Given the description of an element on the screen output the (x, y) to click on. 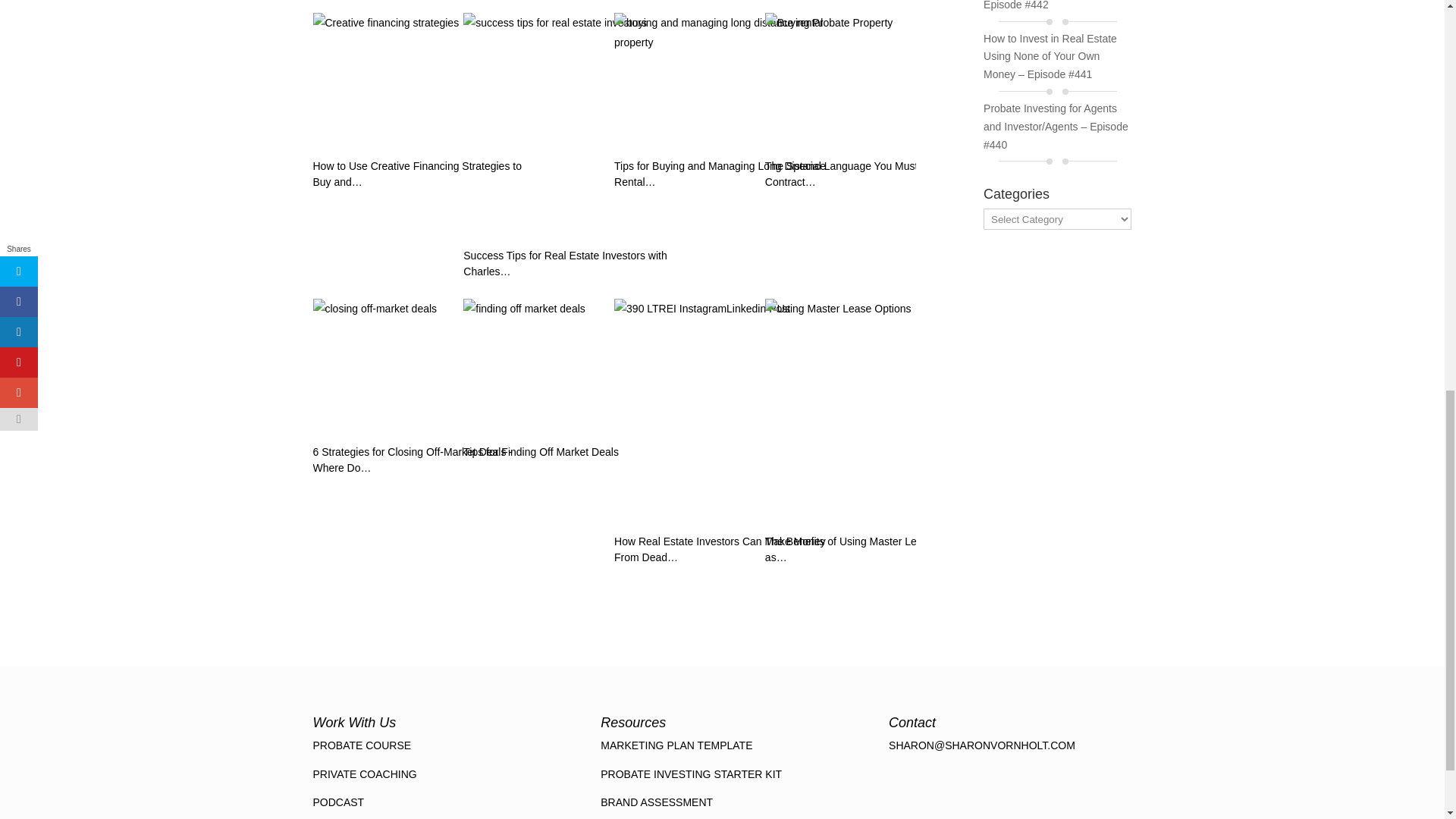
PROBATE INVESTING STARTER KIT (690, 773)
Tips for Finding Off Market Deals (576, 367)
PODCAST (338, 802)
PROBATE COURSE (361, 745)
BRAND ASSESSMENT (656, 802)
MARKETING PLAN TEMPLATE (675, 745)
